Given the description of an element on the screen output the (x, y) to click on. 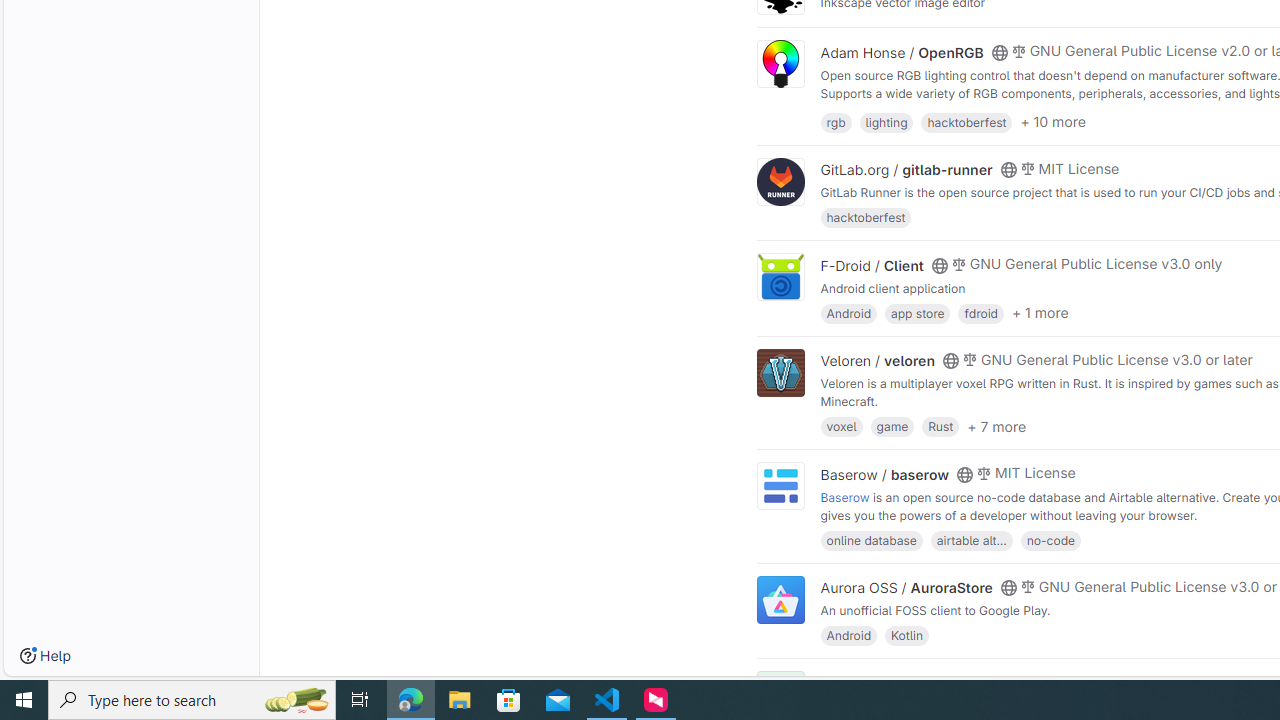
https://openrgb.org (989, 110)
online database (871, 539)
Help (45, 655)
+ 7 more (996, 425)
rgb (836, 120)
F (780, 695)
airtable alt... (971, 539)
Class: s16 (999, 683)
Kotlin (907, 634)
Aurora OSS / AuroraStore (906, 587)
Edouard Klein / falsisign (902, 682)
GitLab.org / gitlab-runner (906, 170)
hacktoberfest (866, 217)
voxel (841, 426)
fdroid (980, 312)
